Given the description of an element on the screen output the (x, y) to click on. 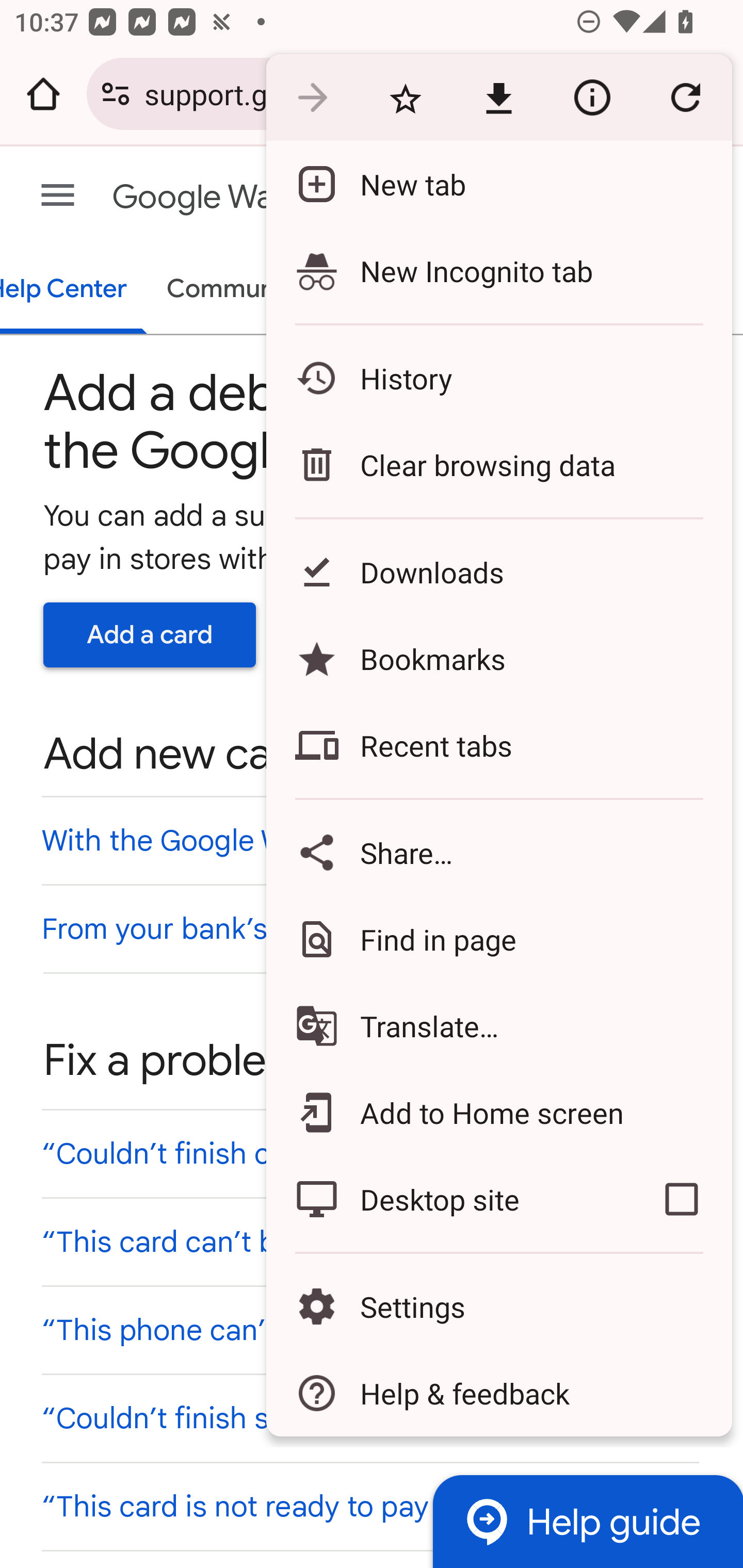
Forward (311, 97)
Bookmark (404, 97)
Download (498, 97)
Page info (591, 97)
Refresh (684, 97)
New tab (498, 184)
New Incognito tab (498, 270)
History (498, 377)
Clear browsing data (498, 464)
Downloads (498, 571)
Bookmarks (498, 658)
Recent tabs (498, 745)
Share… (498, 852)
Find in page (498, 939)
Translate… (498, 1026)
Add to Home screen (498, 1112)
Desktop site Turn on Request desktop site (447, 1198)
Settings (498, 1306)
Help & feedback (498, 1393)
